Given the description of an element on the screen output the (x, y) to click on. 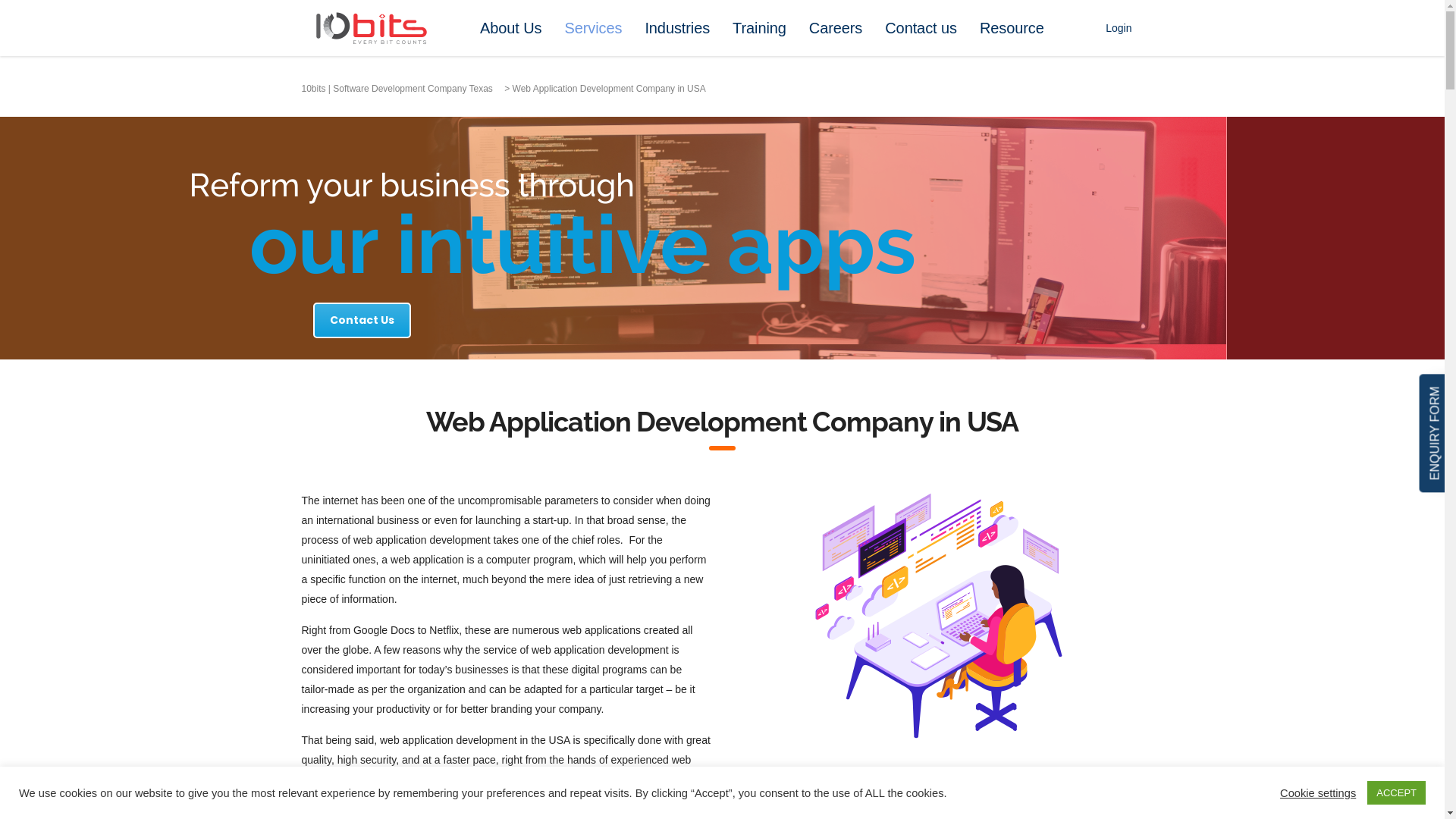
About Us Element type: text (510, 27)
Training Element type: text (759, 27)
Login Element type: text (1118, 27)
Resource Element type: text (1011, 27)
Careers Element type: text (835, 27)
Cookie settings Element type: text (1317, 792)
10bits | Software Development Company Texas Element type: text (396, 88)
Industries Element type: text (677, 27)
Services Element type: text (593, 27)
ACCEPT Element type: text (1396, 792)
Web Application Development Company in USA Element type: hover (938, 615)
Contact us Element type: text (920, 27)
Contact Us Element type: text (361, 320)
10bits Element type: text (502, 779)
